Given the description of an element on the screen output the (x, y) to click on. 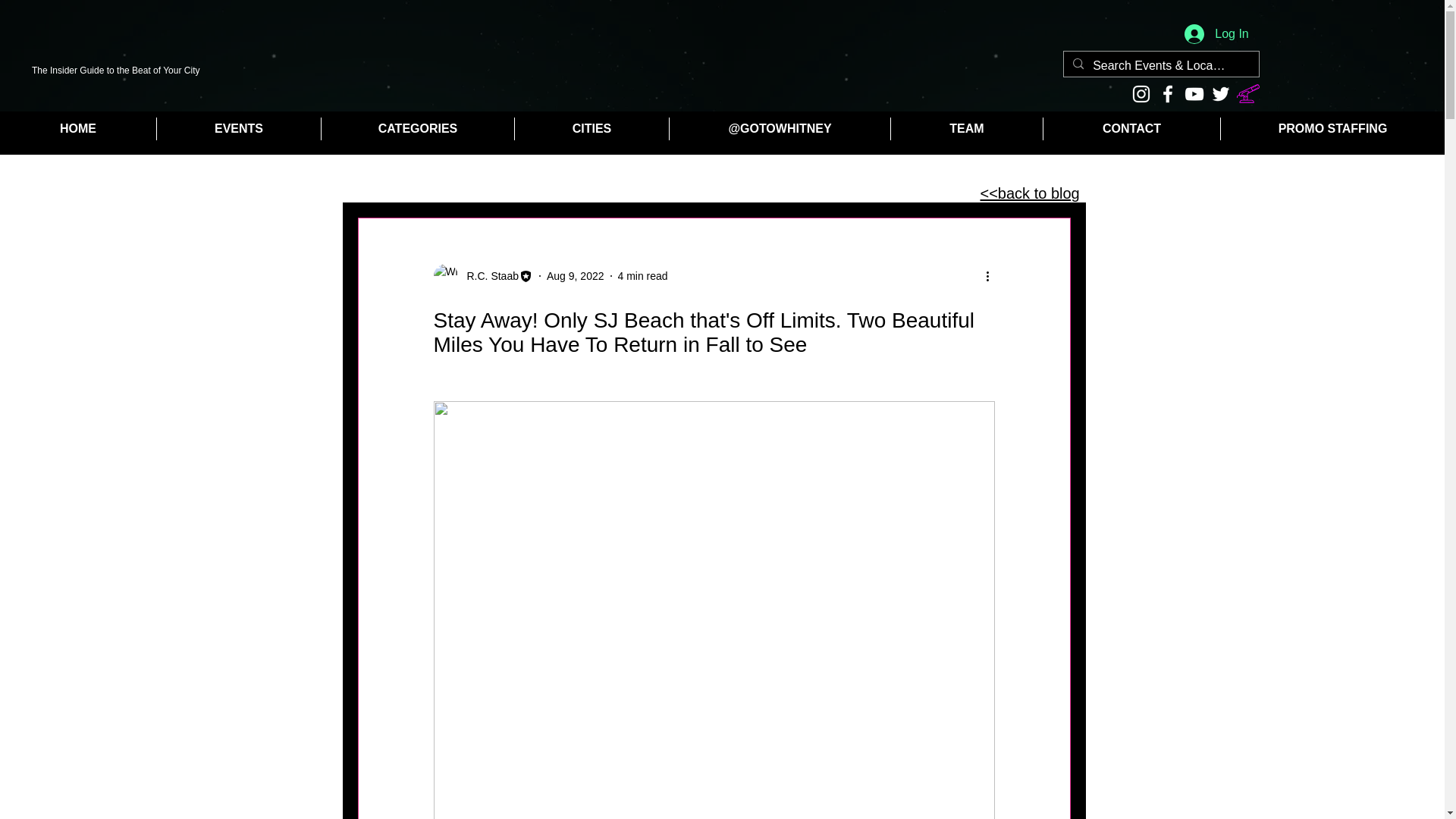
R.C. Staab (488, 276)
TEAM (965, 128)
R.C. Staab (482, 275)
EVENTS (237, 128)
4 min read (641, 275)
CONTACT (1131, 128)
Log In (1216, 33)
Aug 9, 2022 (575, 275)
HOME (77, 128)
